Given the description of an element on the screen output the (x, y) to click on. 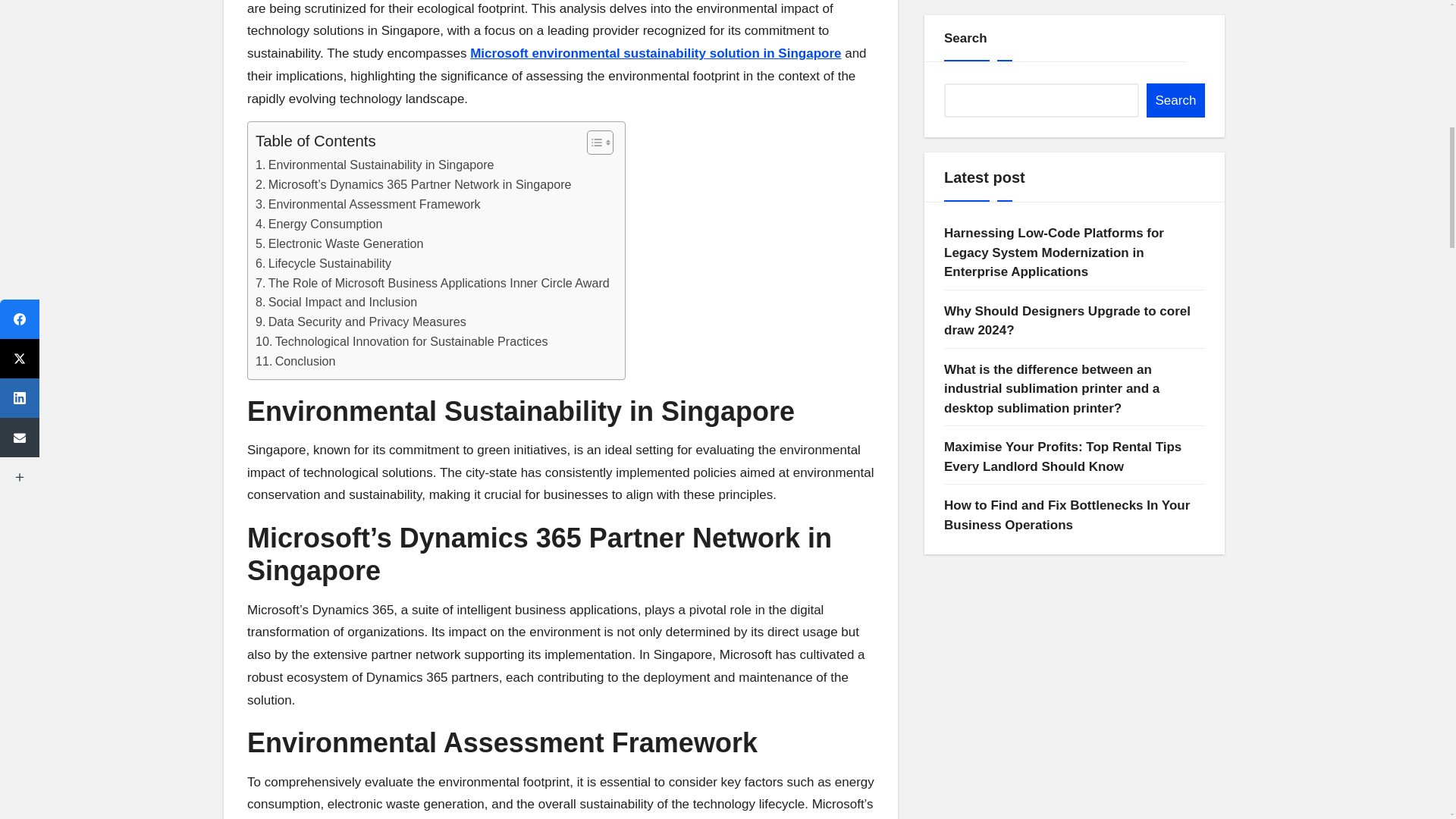
Electronic Waste Generation (339, 243)
Data Security and Privacy Measures (360, 322)
Environmental Assessment Framework (368, 204)
Lifecycle Sustainability (323, 263)
Technological Innovation for Sustainable Practices (401, 342)
Conclusion (296, 361)
Energy Consumption (318, 224)
Environmental Sustainability in Singapore (375, 165)
Social Impact and Inclusion (336, 302)
